Given the description of an element on the screen output the (x, y) to click on. 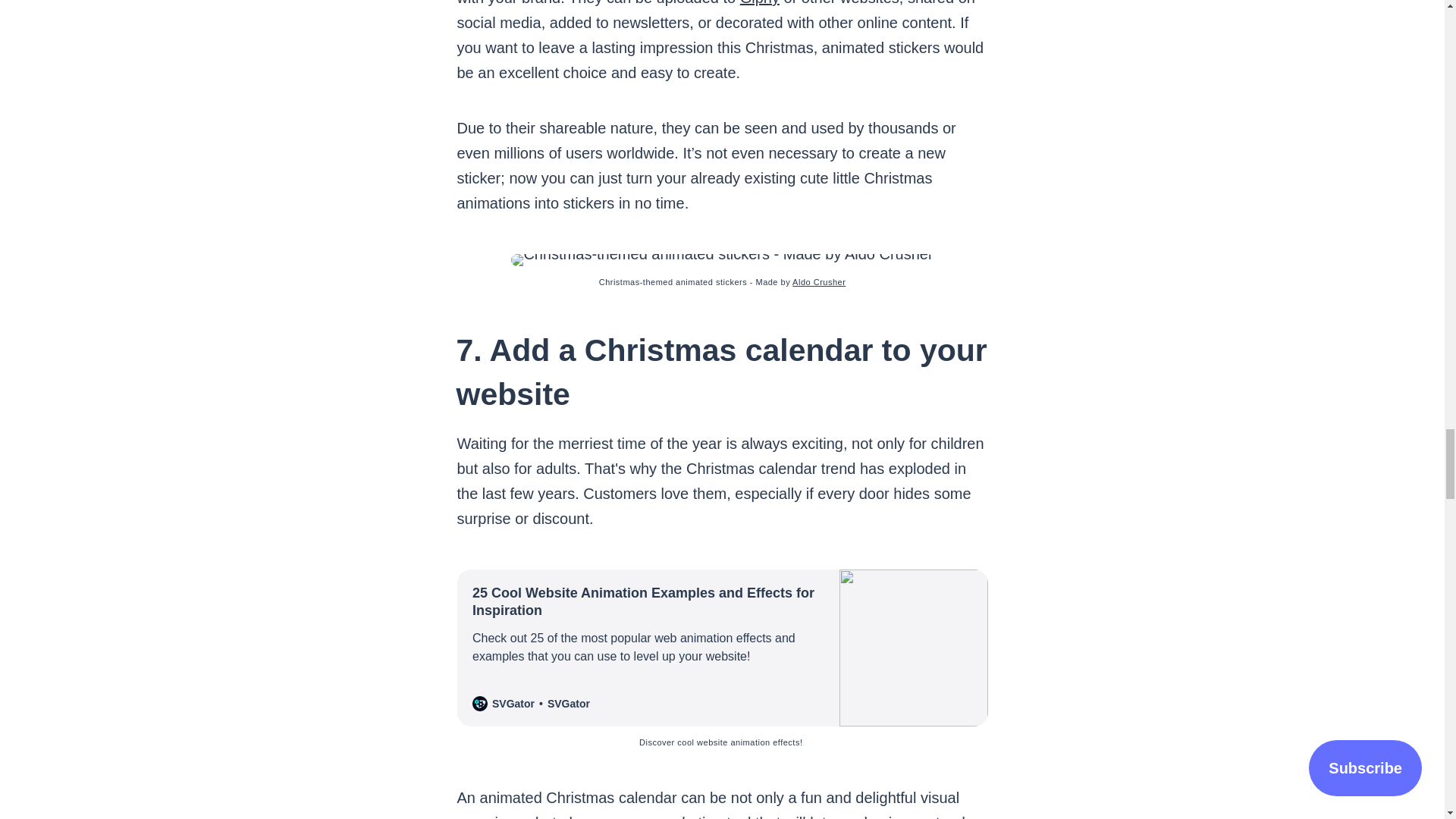
Aldo Crusher (818, 281)
Giphy (758, 2)
